Given the description of an element on the screen output the (x, y) to click on. 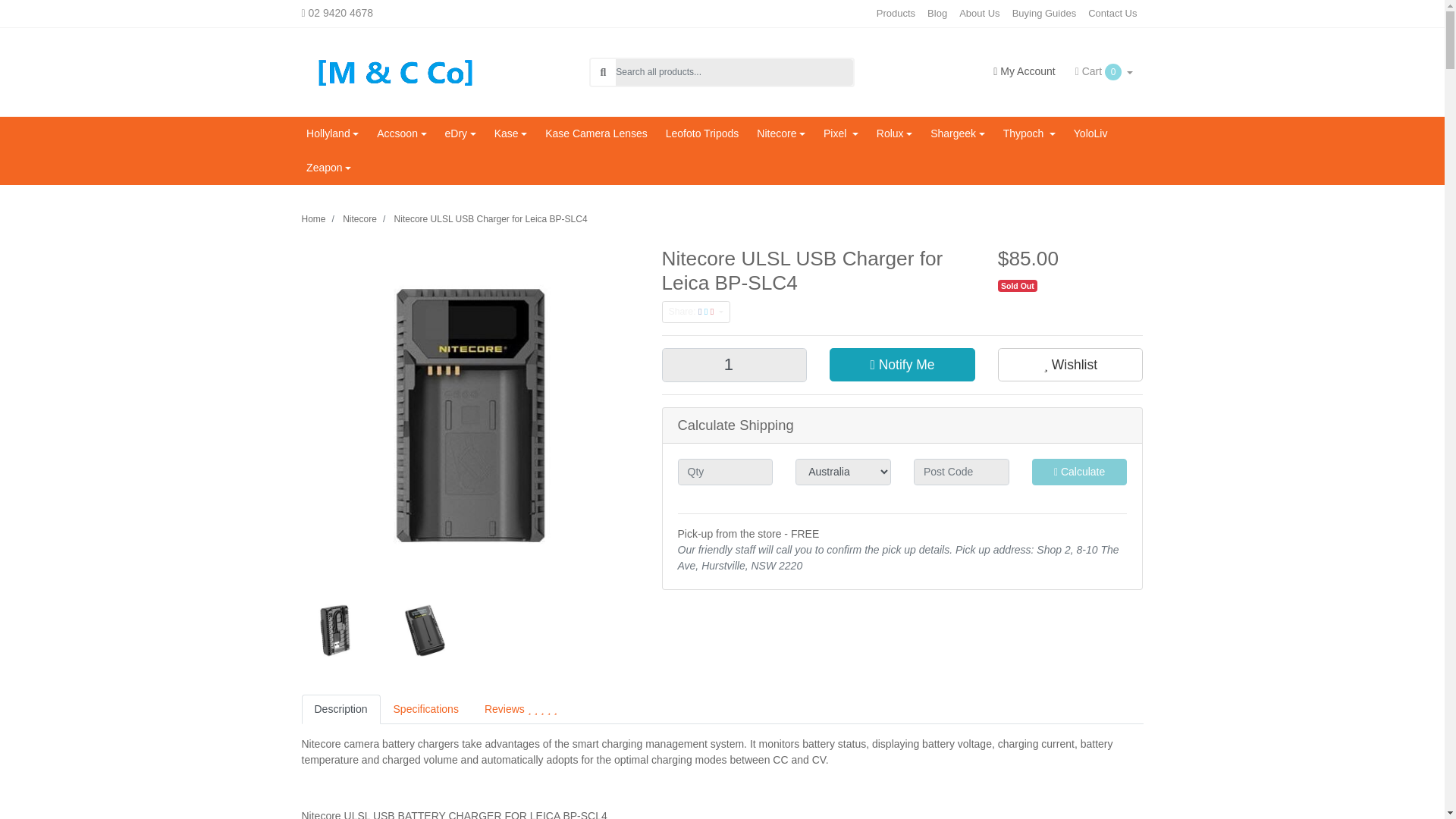
About Us (979, 13)
Search (602, 71)
Accsoon (401, 133)
Add To Wishlist (1069, 364)
Products (895, 13)
Contact Us (1111, 13)
Kase (509, 133)
Calculate (1079, 471)
Buying Guides (1044, 13)
Cart 0 (1103, 71)
02 9420 4678 (355, 12)
Blog (937, 13)
Hollyland (332, 133)
1 (733, 365)
